Given the description of an element on the screen output the (x, y) to click on. 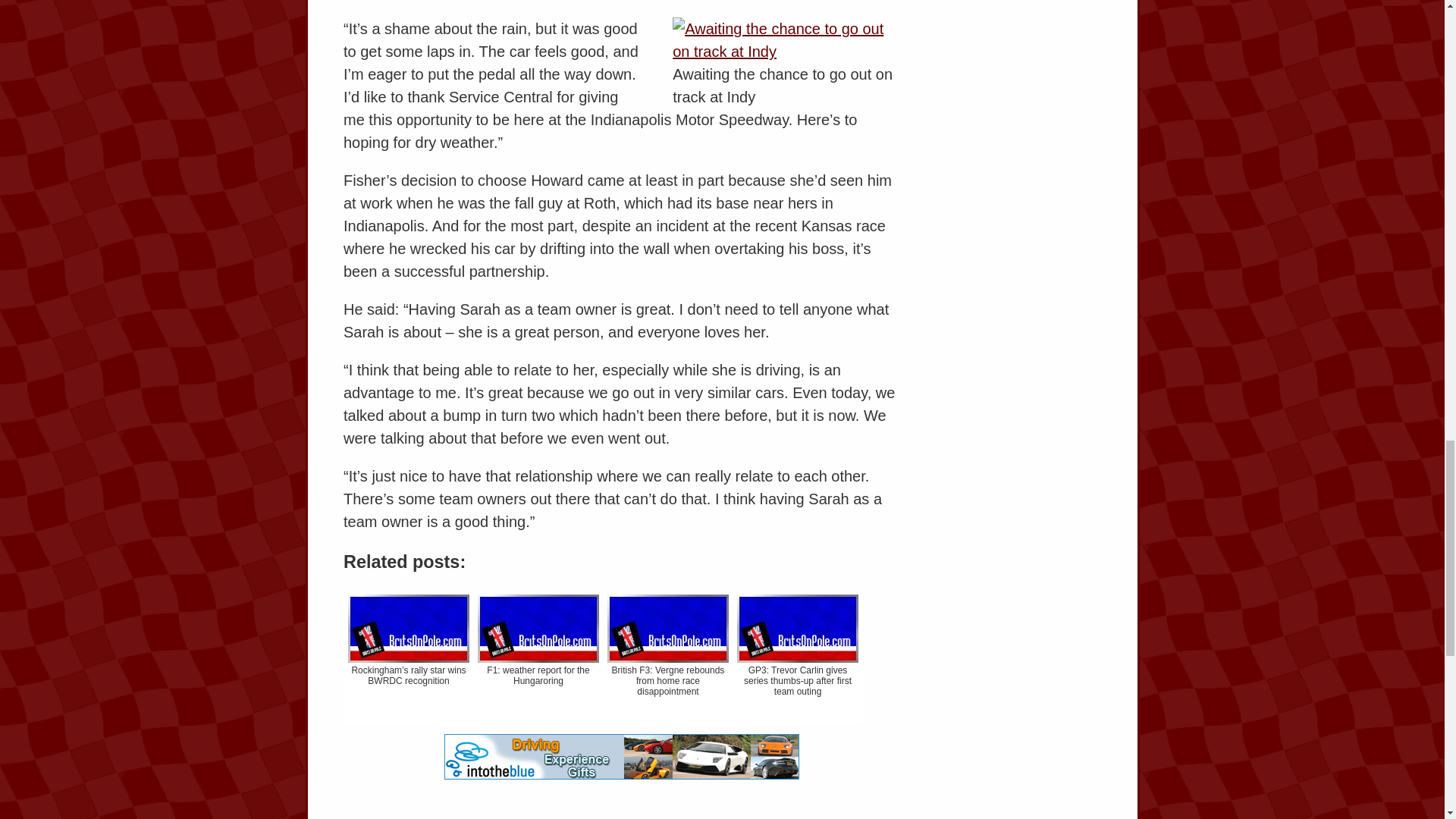
Awaiting the chance to go out on track at Indy (785, 40)
